Given the description of an element on the screen output the (x, y) to click on. 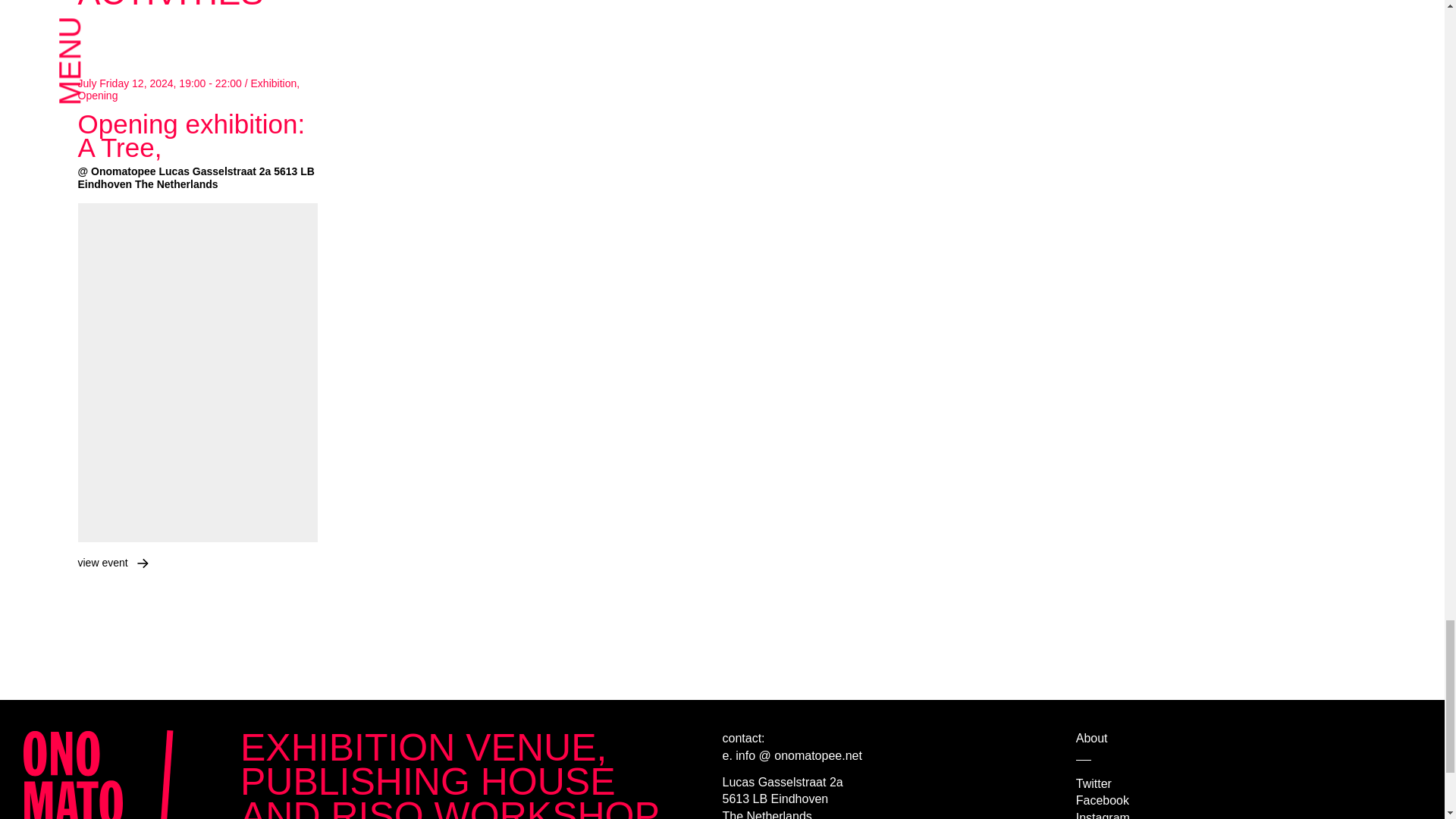
Facebook (1102, 799)
footer-logo Created with Sketch. (112, 774)
view event (102, 562)
Instagram (1102, 815)
Twitter (1093, 783)
About (1091, 738)
